Given the description of an element on the screen output the (x, y) to click on. 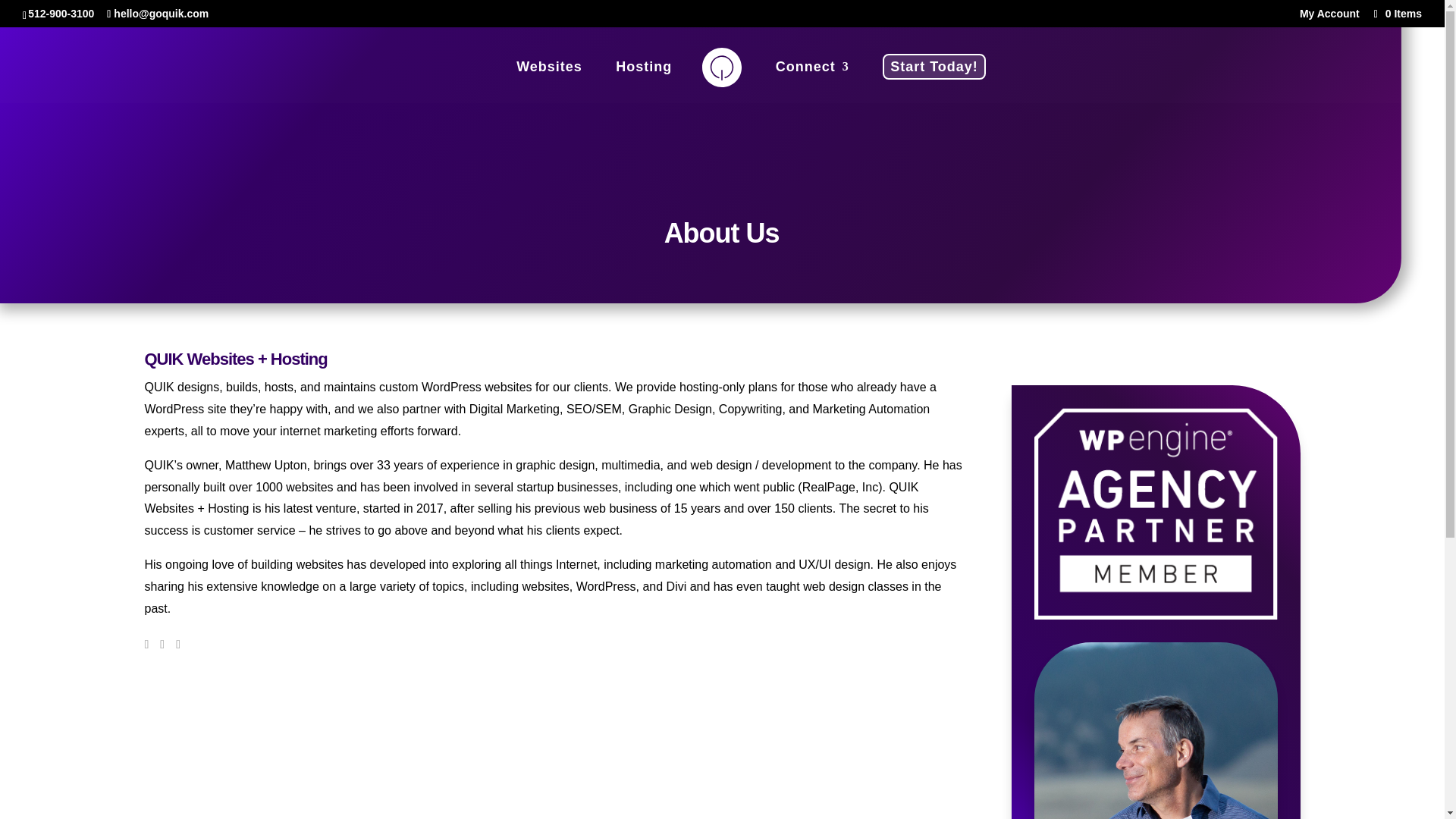
0 Items (1396, 13)
My Account (1329, 16)
austin wordpress expert matthew upton photo (1155, 730)
Hosting (643, 79)
Connect (812, 79)
Websites (549, 79)
WP Engine - Agency Partner Program Member - image (1155, 513)
Start Today! (933, 66)
